Given the description of an element on the screen output the (x, y) to click on. 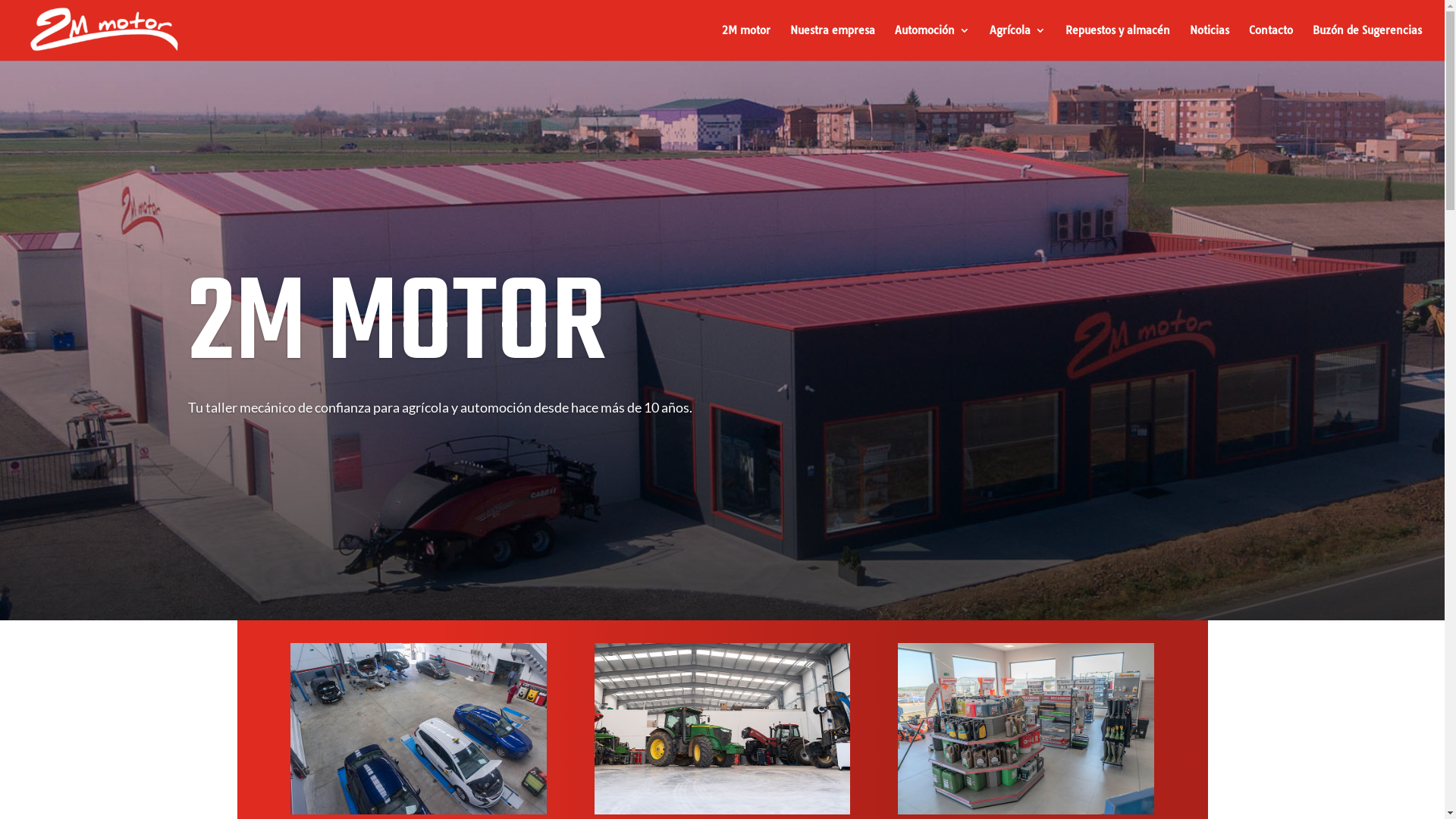
2M motor Element type: text (745, 42)
Nuestra empresa Element type: text (832, 42)
Noticias Element type: text (1209, 42)
Contacto Element type: text (1270, 42)
